Given the description of an element on the screen output the (x, y) to click on. 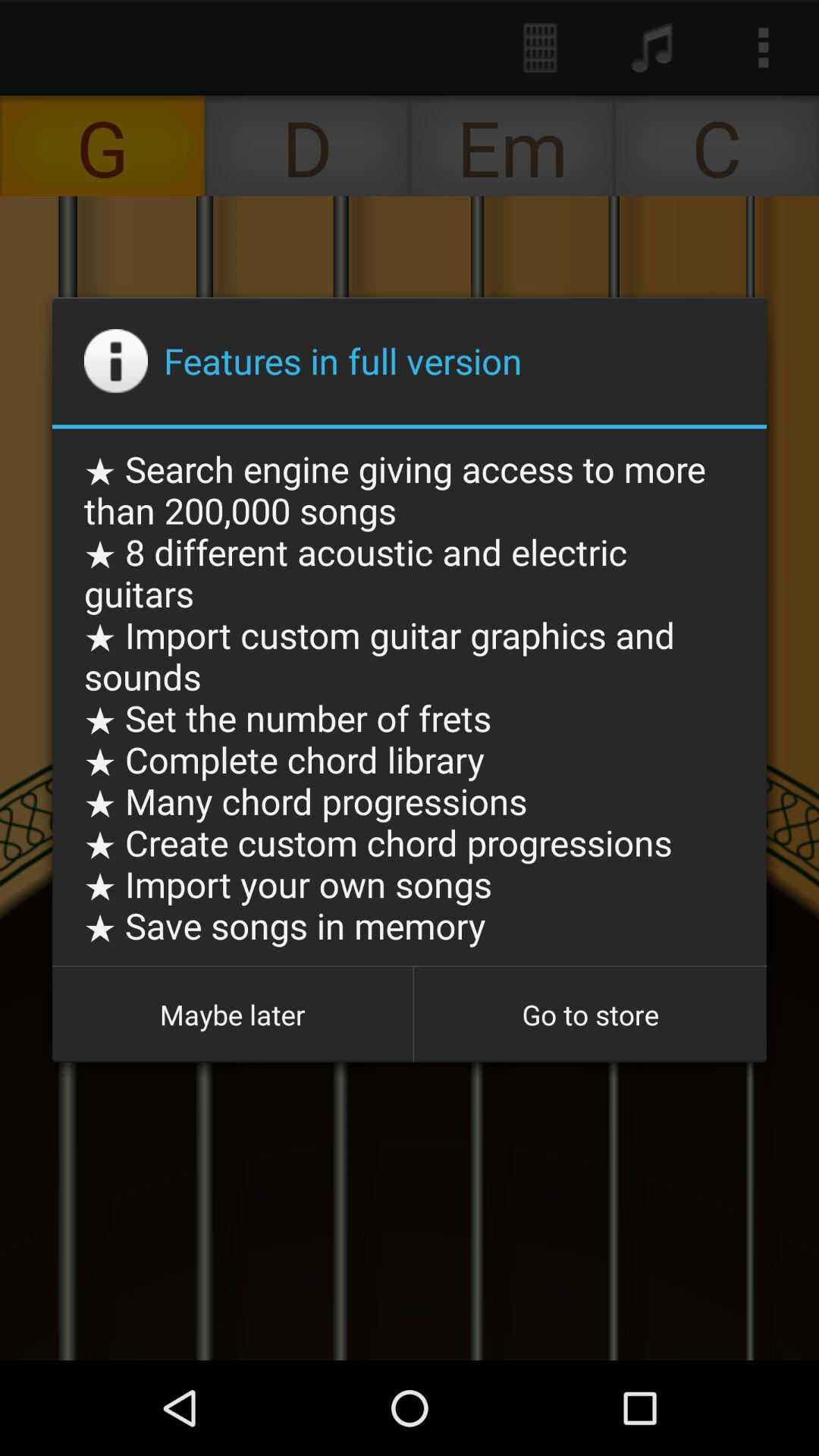
press the app below the search engine giving icon (590, 1014)
